Given the description of an element on the screen output the (x, y) to click on. 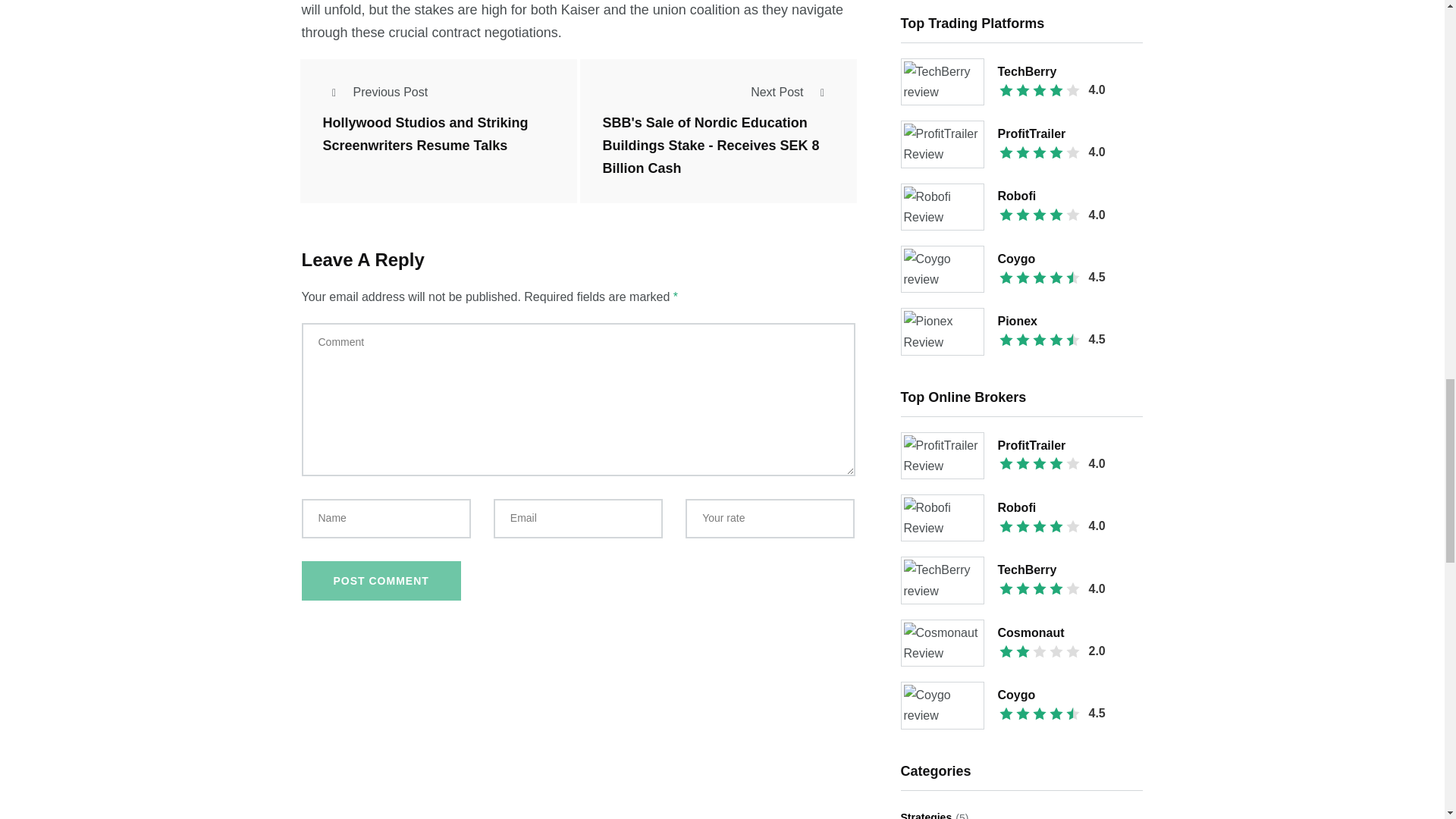
Hollywood Studios and Striking Screenwriters Resume Talks (425, 134)
Next Post (791, 91)
POST COMMENT (381, 580)
Previous Post (375, 91)
